Given the description of an element on the screen output the (x, y) to click on. 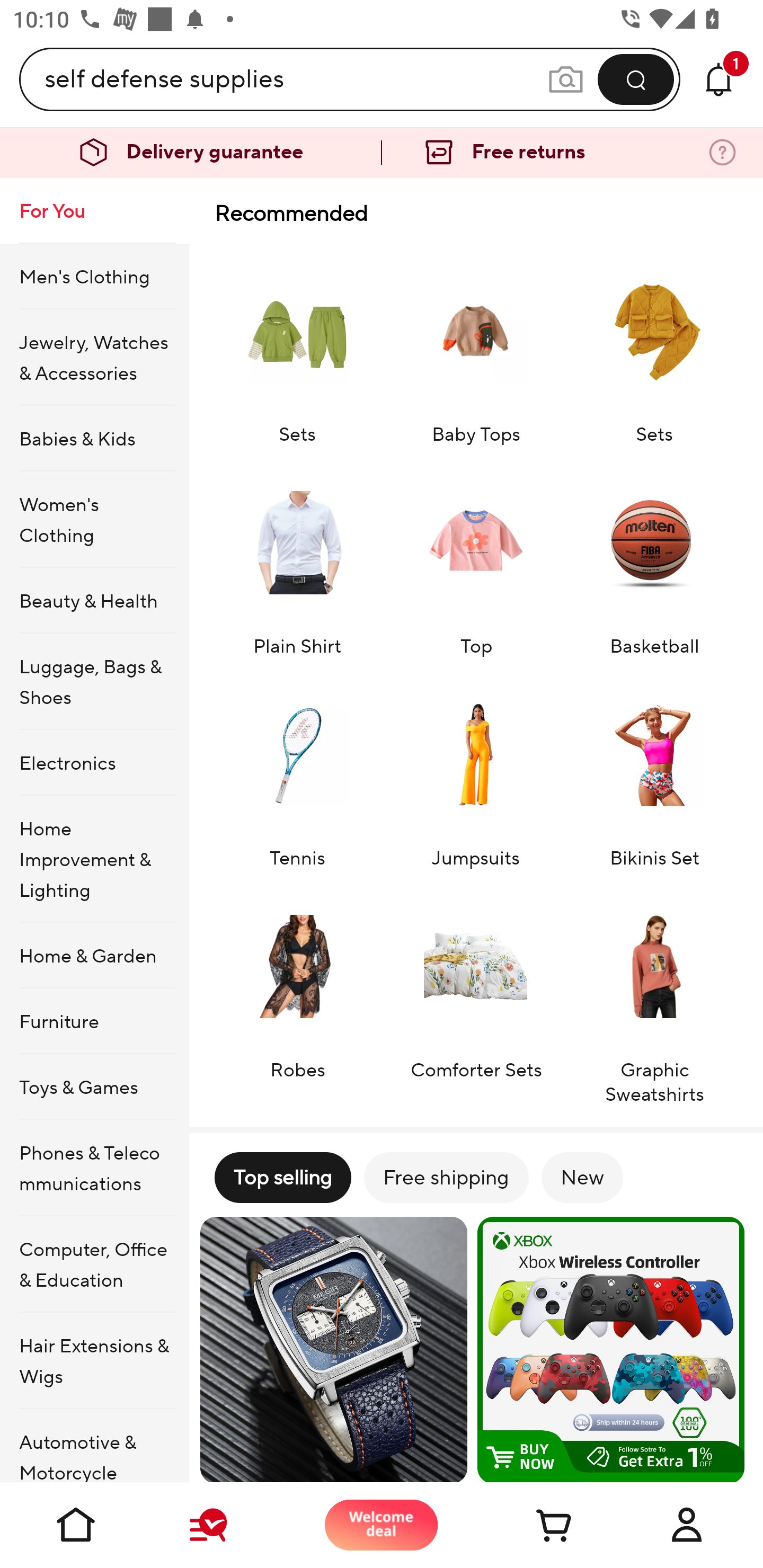
self defense supplies Search query (295, 79)
Messages 1 (718, 79)
Delivery guarantee Free returns (381, 152)
For You (94, 210)
Recommended (476, 212)
Men's Clothing (94, 275)
Sets (296, 346)
Baby Tops (475, 346)
Sets (654, 346)
Jewelry, Watches & Accessories (94, 357)
Babies & Kids (94, 438)
Plain Shirt (296, 560)
Top (475, 560)
Basketball (654, 560)
Women's Clothing (94, 519)
Beauty & Health (94, 600)
Luggage, Bags & Shoes (94, 681)
Tennis (296, 771)
Jumpsuits (475, 771)
Bikinis Set (654, 771)
Electronics (94, 762)
Home Improvement & Lighting (94, 858)
Robes (296, 995)
Comforter Sets (475, 995)
Graphic Sweatshirts (654, 995)
Home & Garden (94, 955)
Furniture (94, 1020)
Toys & Games (94, 1086)
Phones & Telecommunications (94, 1167)
Top selling (282, 1177)
Free shipping (445, 1177)
New (582, 1177)
Computer, Office & Education (94, 1264)
Hair Extensions & Wigs (94, 1360)
Automotive & Motorcycle (94, 1445)
Home (76, 1524)
Cart (533, 1524)
Account (686, 1524)
